Given the description of an element on the screen output the (x, y) to click on. 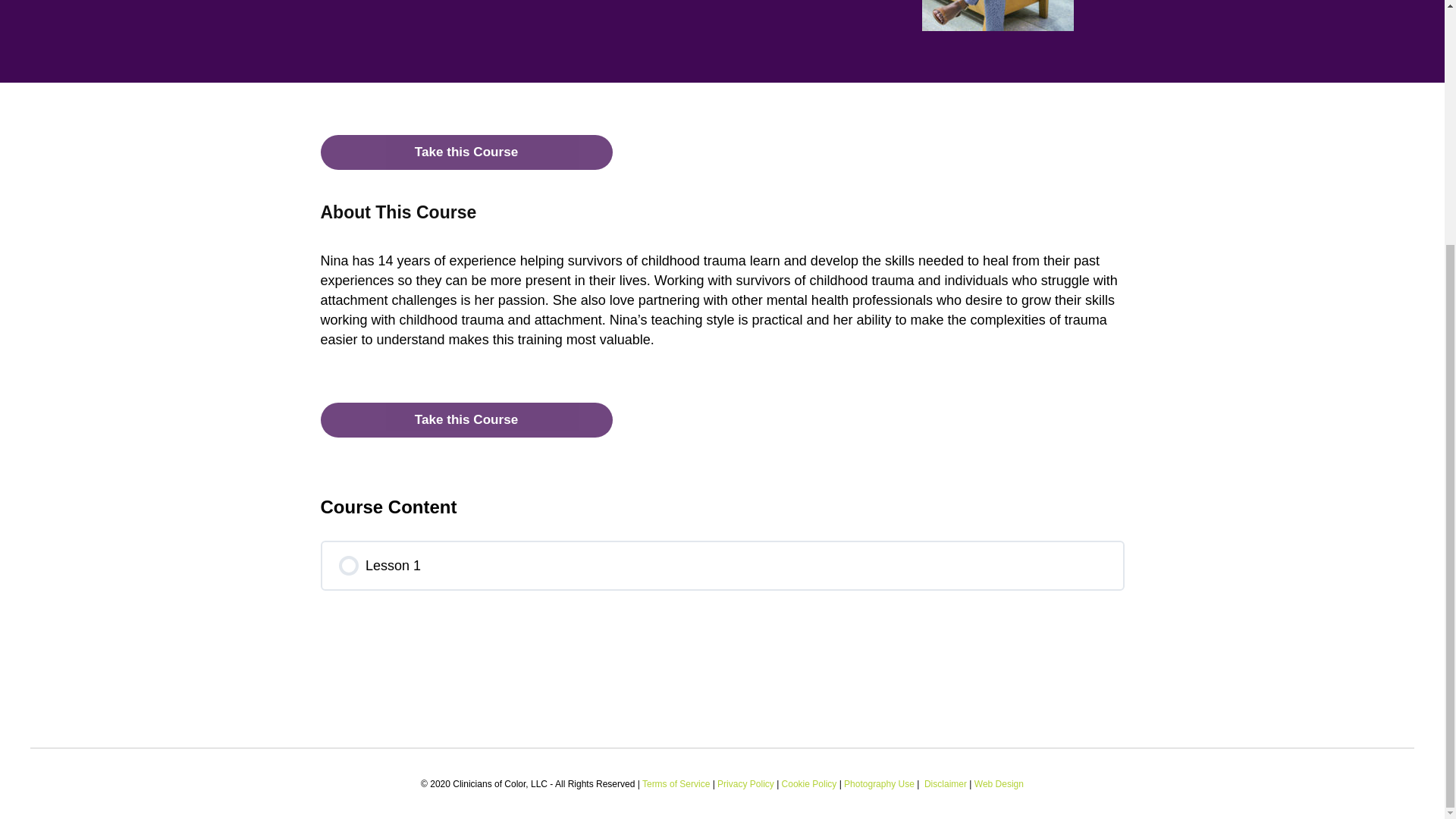
Photography Use (879, 783)
Take this Course (465, 419)
Terms of Service (676, 783)
Disclaimer (945, 783)
Take this Course (465, 152)
Privacy Policy (745, 783)
Cookie Policy (809, 783)
Web Design (998, 783)
Take this Course (465, 152)
Take this Course (465, 419)
Lesson 1 (721, 565)
